Given the description of an element on the screen output the (x, y) to click on. 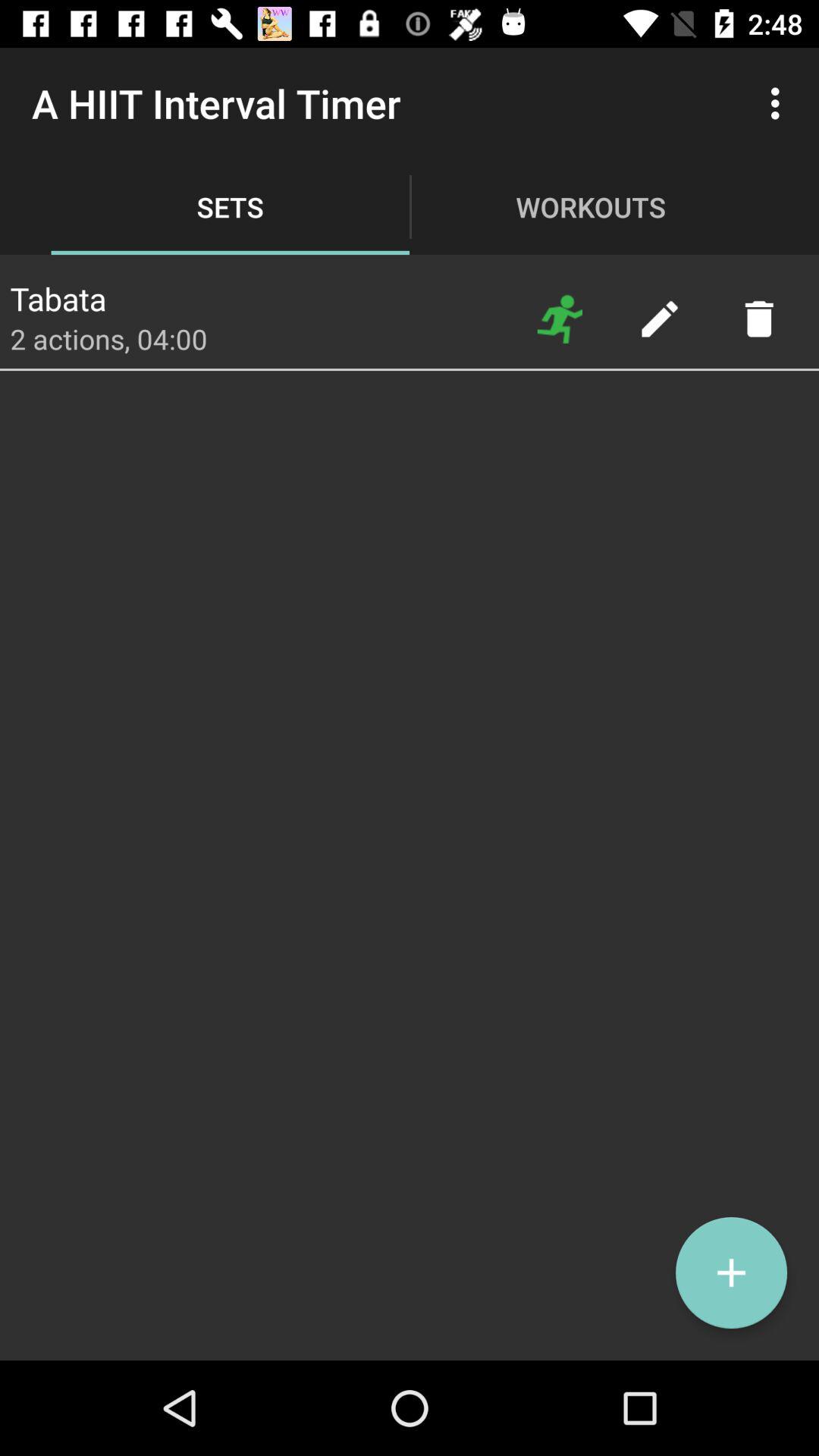
turn off item next to sets (58, 294)
